Given the description of an element on the screen output the (x, y) to click on. 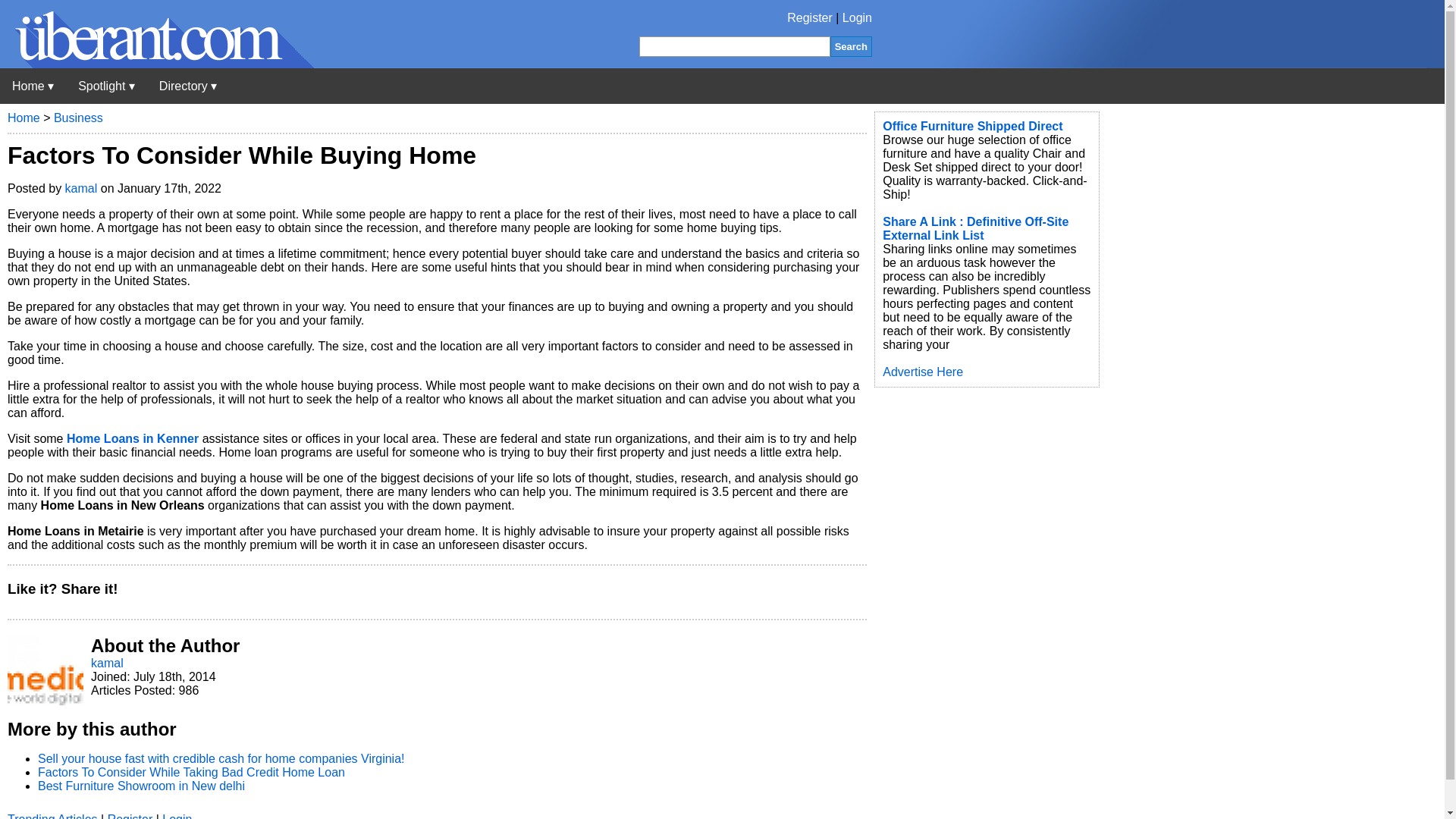
Search (850, 46)
Login (857, 17)
Search (850, 46)
Register (809, 17)
Uberant (32, 85)
Uberant (157, 63)
